Given the description of an element on the screen output the (x, y) to click on. 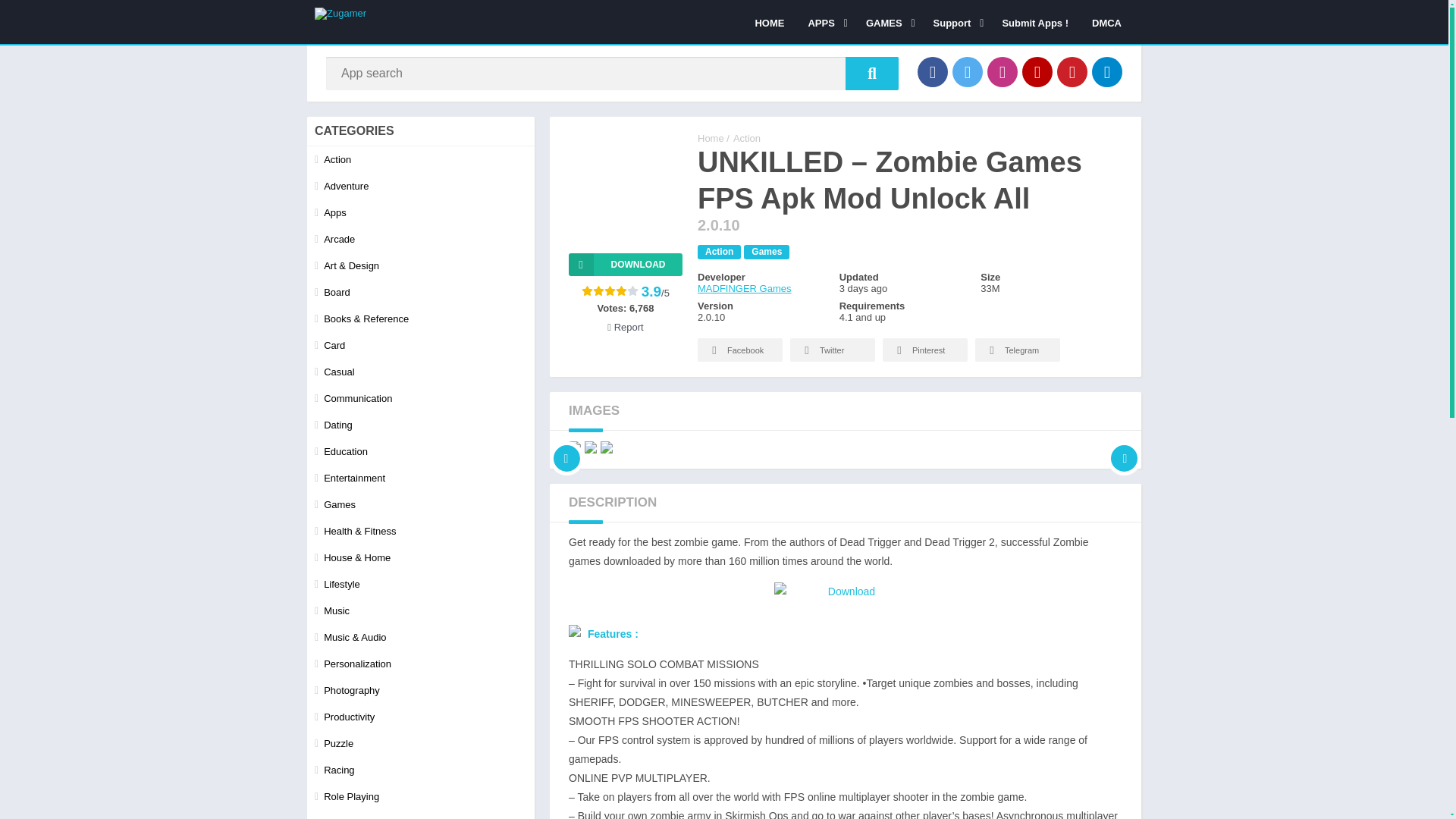
Telegram (1107, 71)
Download (625, 264)
Instagram (1002, 71)
Facebook (932, 71)
Twitter (967, 71)
Pinterest (1072, 71)
YouTube (1037, 71)
Previous (566, 447)
Zugamer (710, 138)
App search (871, 73)
Next (1123, 447)
